Given the description of an element on the screen output the (x, y) to click on. 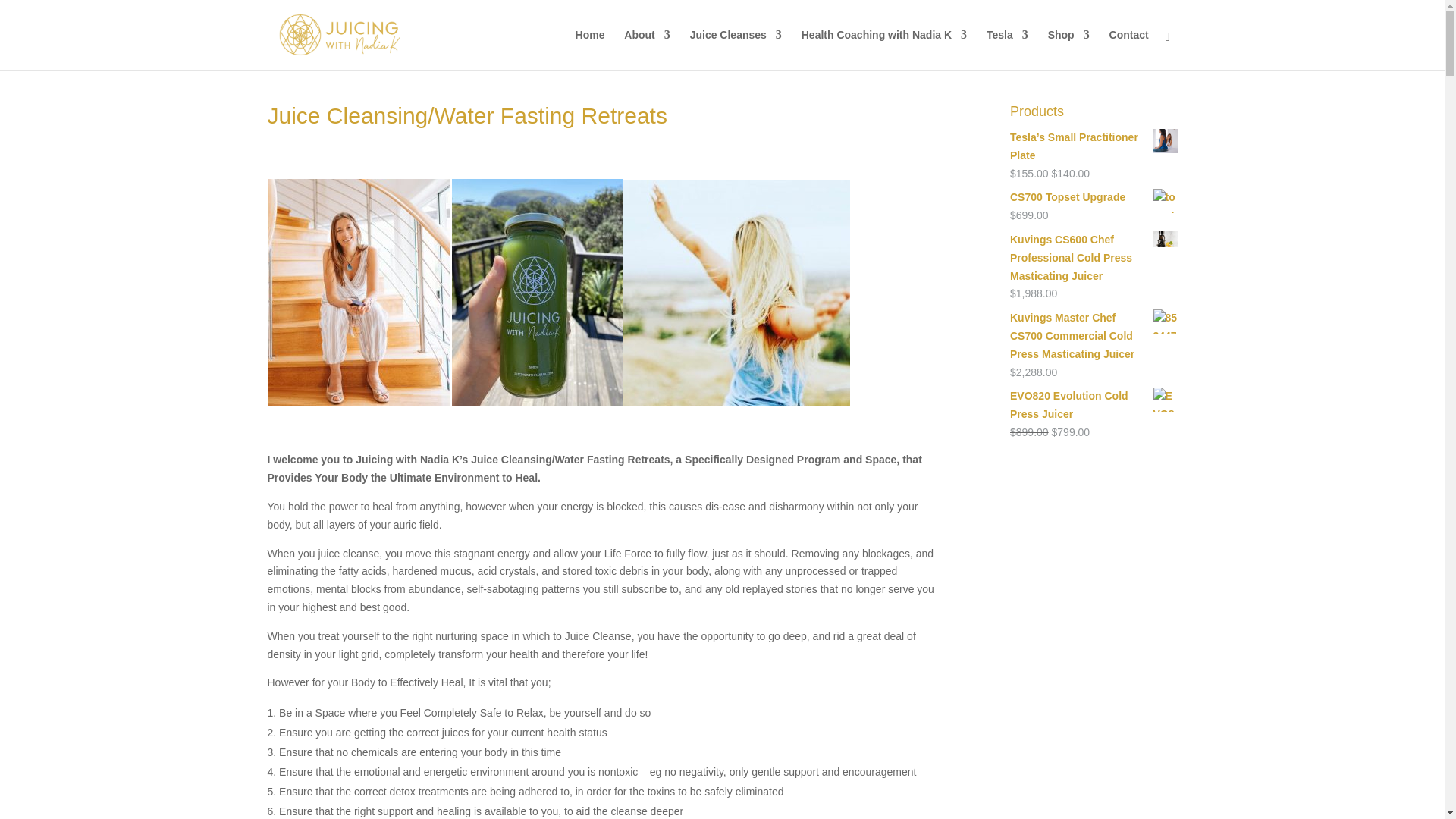
Juice Cleanses (735, 49)
Tesla (1007, 49)
About (646, 49)
Health Coaching with Nadia K (884, 49)
